Given the description of an element on the screen output the (x, y) to click on. 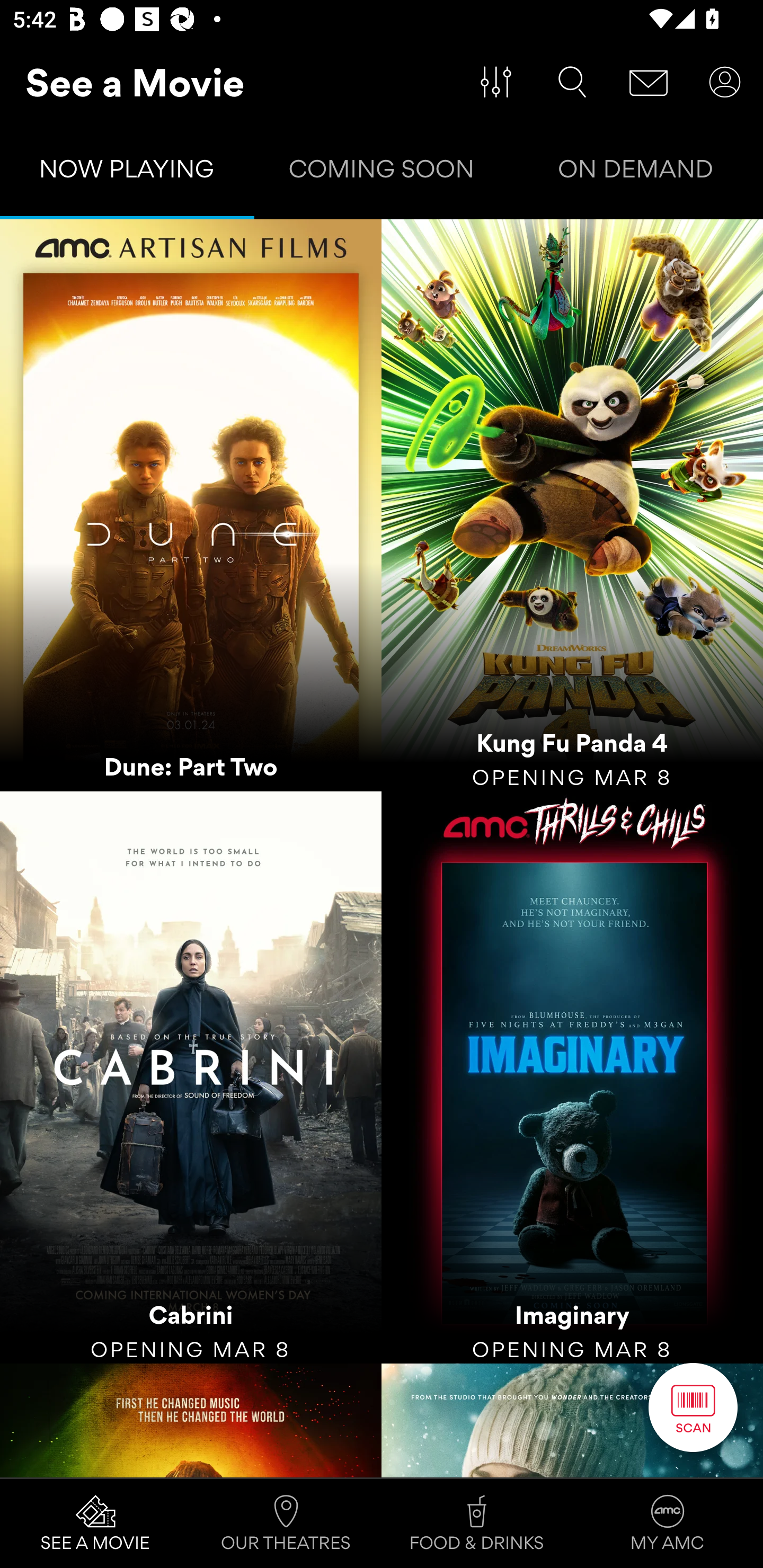
Filter Movies (495, 82)
Search (572, 82)
Message Center (648, 82)
User Account (724, 82)
NOW PLAYING
Tab 1 of 3 (127, 173)
COMING SOON
Tab 2 of 3 (381, 173)
ON DEMAND
Tab 3 of 3 (635, 173)
Dune: Part Two (190, 505)
Kung Fu Panda 4
OPENING MAR 8 (572, 505)
Cabrini
OPENING MAR 8 (190, 1077)
Imaginary
OPENING MAR 8 (572, 1077)
Scan Button (692, 1406)
SEE A MOVIE
Tab 1 of 4 (95, 1523)
OUR THEATRES
Tab 2 of 4 (285, 1523)
FOOD & DRINKS
Tab 3 of 4 (476, 1523)
MY AMC
Tab 4 of 4 (667, 1523)
